Given the description of an element on the screen output the (x, y) to click on. 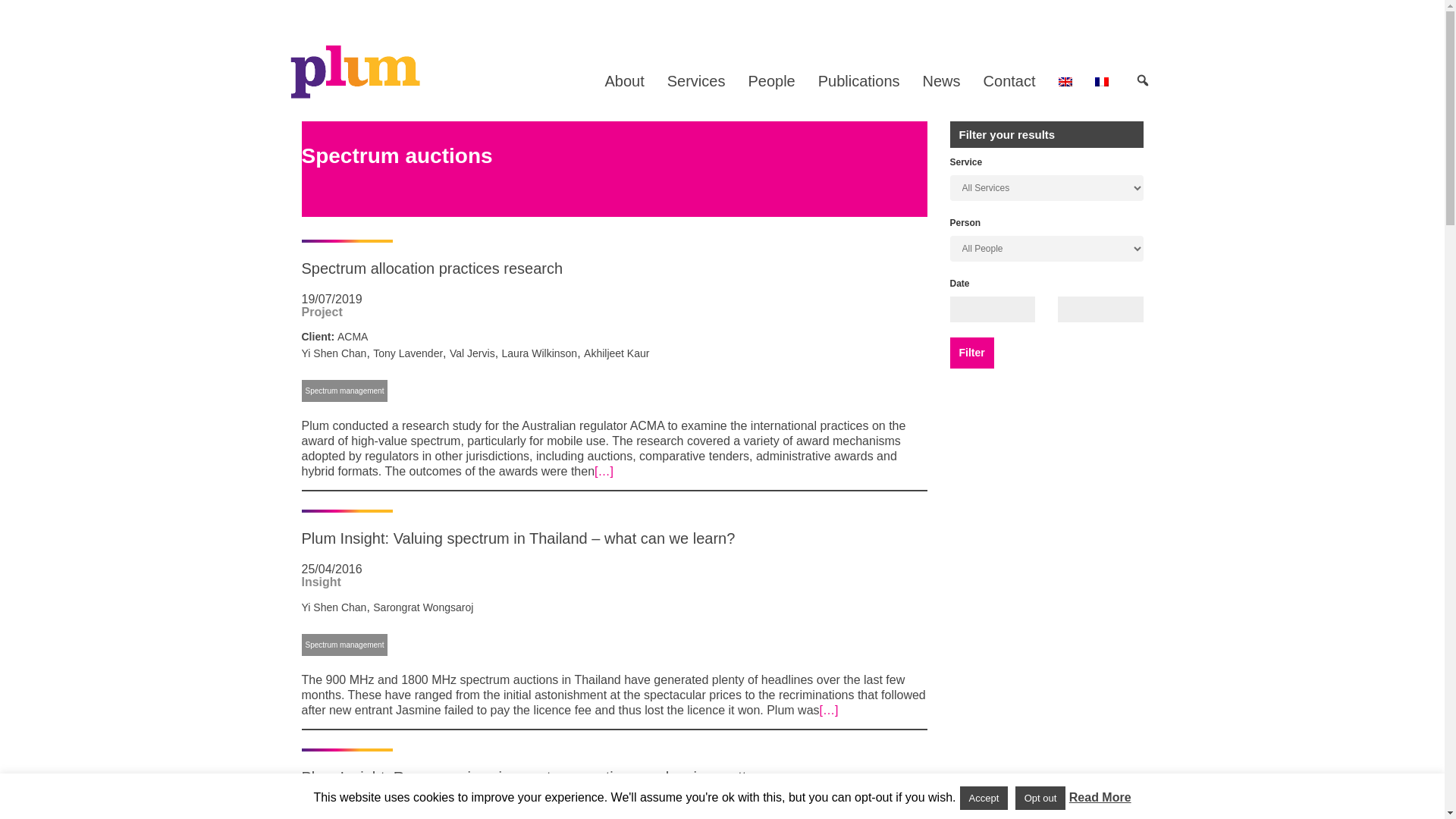
About (623, 80)
News (941, 80)
Publications (858, 80)
Contact (1009, 80)
Yi Shen Chan (333, 353)
Services (695, 80)
Spectrum allocation practices research (432, 268)
Plum Consulting (354, 71)
Filter (970, 352)
Search (48, 18)
People (771, 80)
